Given the description of an element on the screen output the (x, y) to click on. 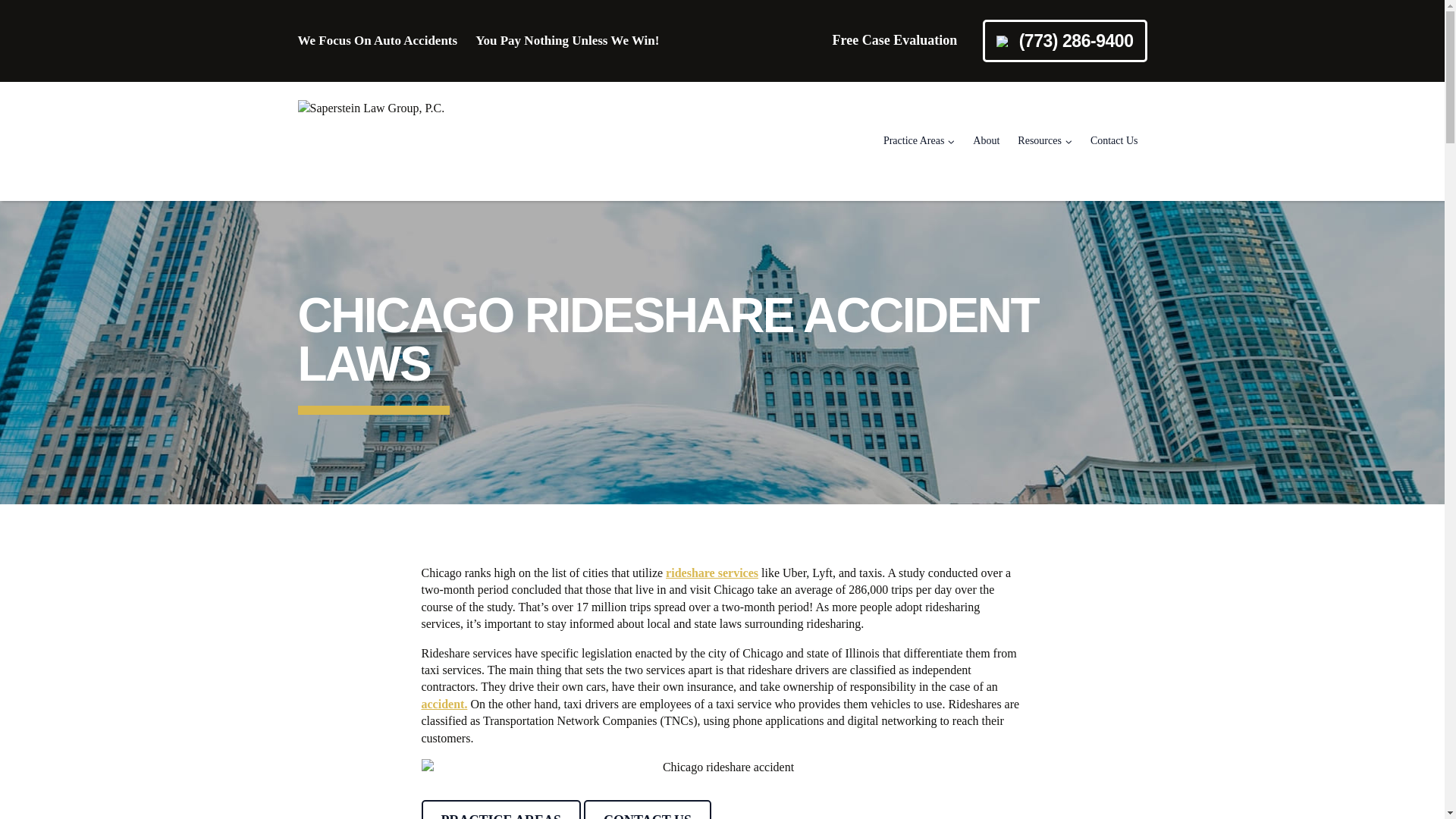
PRACTICE AREAS (501, 809)
rideshare services (711, 572)
accident. (444, 703)
CONTACT US (647, 809)
Resources (1045, 141)
Contact Us (1114, 141)
Practice Areas (919, 141)
About (986, 141)
